Given the description of an element on the screen output the (x, y) to click on. 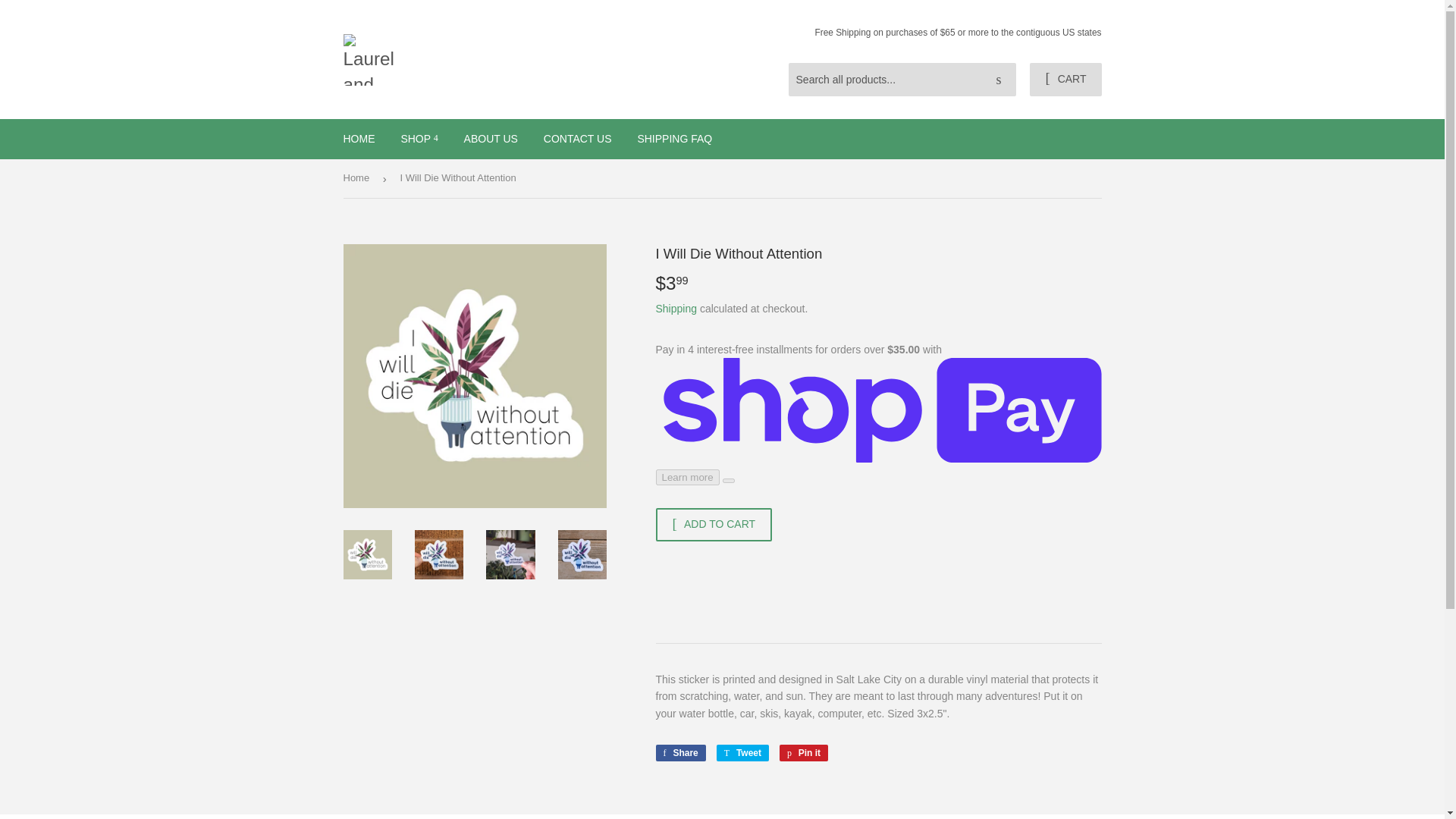
Tweet on Twitter (742, 752)
HOME (359, 138)
ADD TO CART (713, 524)
ABOUT US (490, 138)
SHIPPING FAQ (674, 138)
Search (998, 80)
Pin on Pinterest (803, 752)
CONTACT US (577, 138)
SHOP (418, 138)
CART (1064, 79)
